Given the description of an element on the screen output the (x, y) to click on. 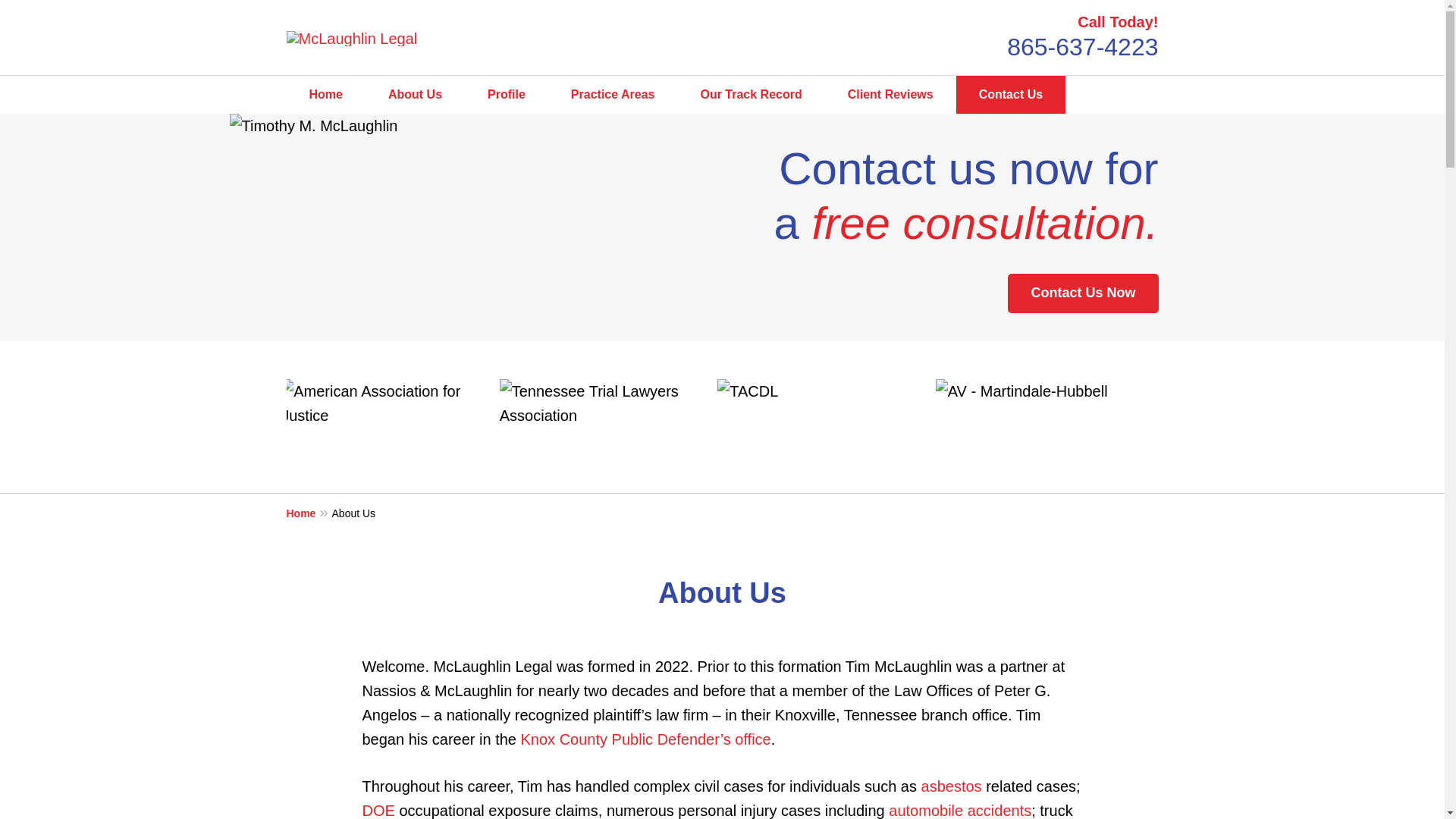
Profile (506, 94)
Contact Us (1010, 94)
Contact Us Now (1082, 292)
Our Track Record (750, 94)
Home (325, 94)
865-637-4223 (1082, 46)
automobile accidents (959, 810)
Home (308, 513)
Client Reviews (890, 94)
DOE (378, 810)
